Given the description of an element on the screen output the (x, y) to click on. 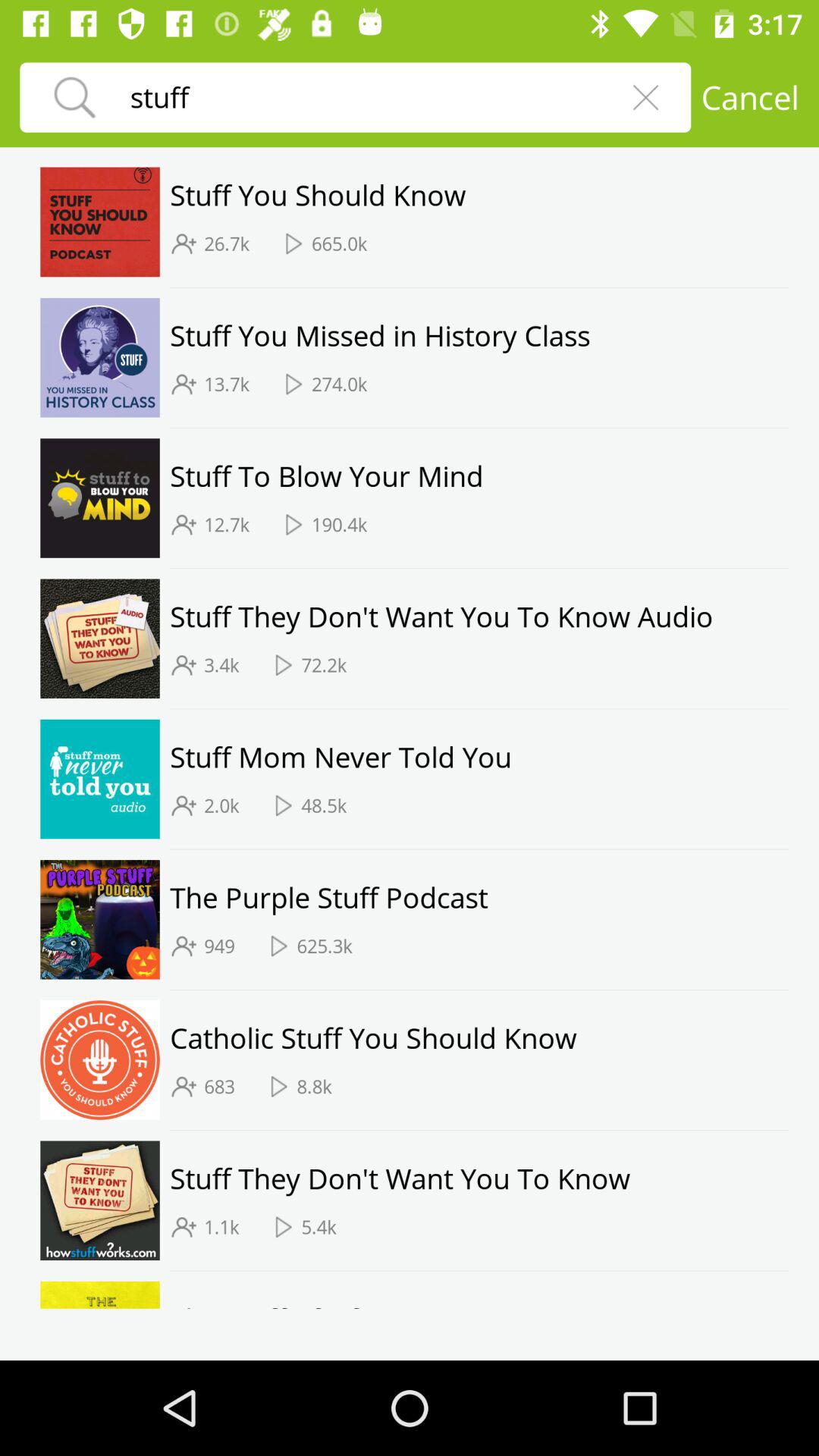
click icon below the purple stuff item (219, 945)
